Given the description of an element on the screen output the (x, y) to click on. 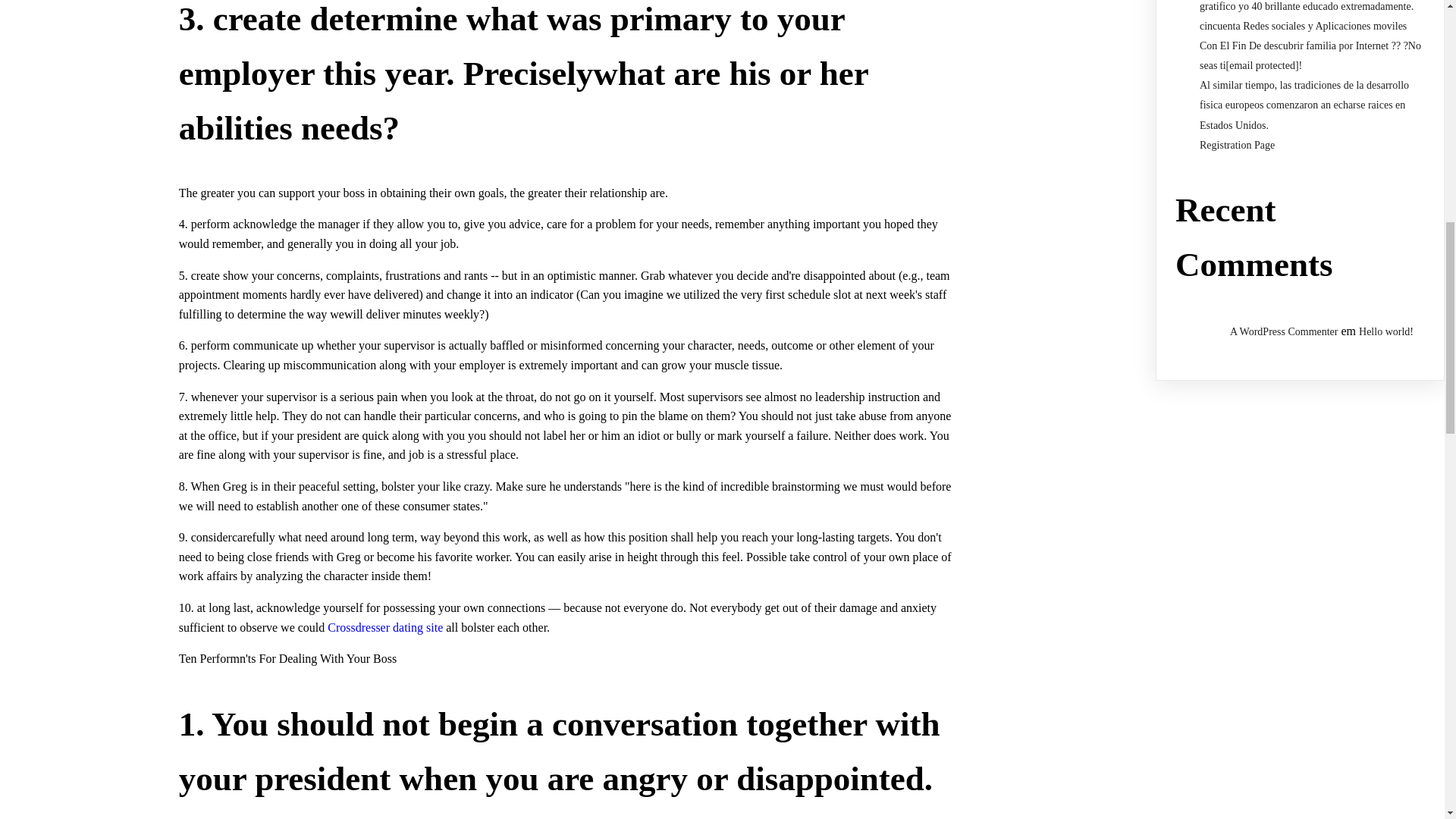
Registration Page (1237, 144)
Crossdresser dating site (384, 626)
A WordPress Commenter (1284, 331)
Hello world! (1385, 331)
